Given the description of an element on the screen output the (x, y) to click on. 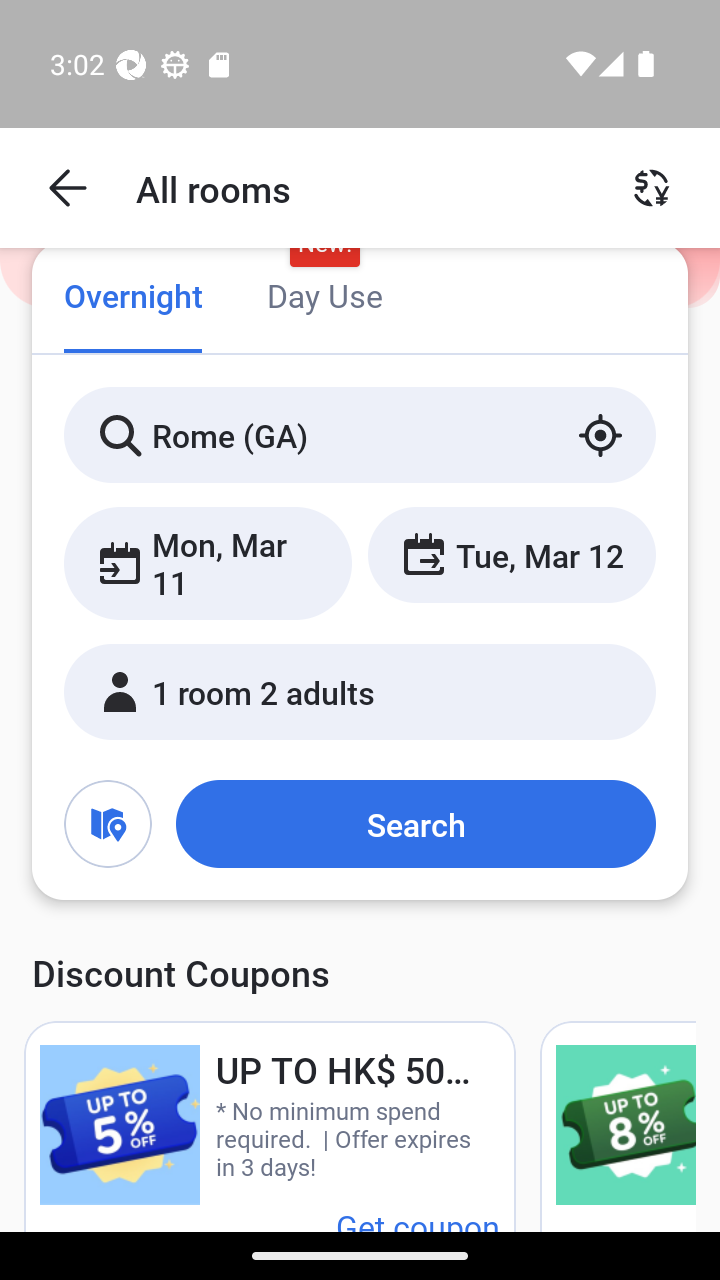
Day Use (324, 298)
Rome (GA) (359, 434)
Mon, Mar 11 (208, 562)
Tue, Mar 12 (511, 554)
1 room 2 adults (359, 691)
Search (415, 823)
